Given the description of an element on the screen output the (x, y) to click on. 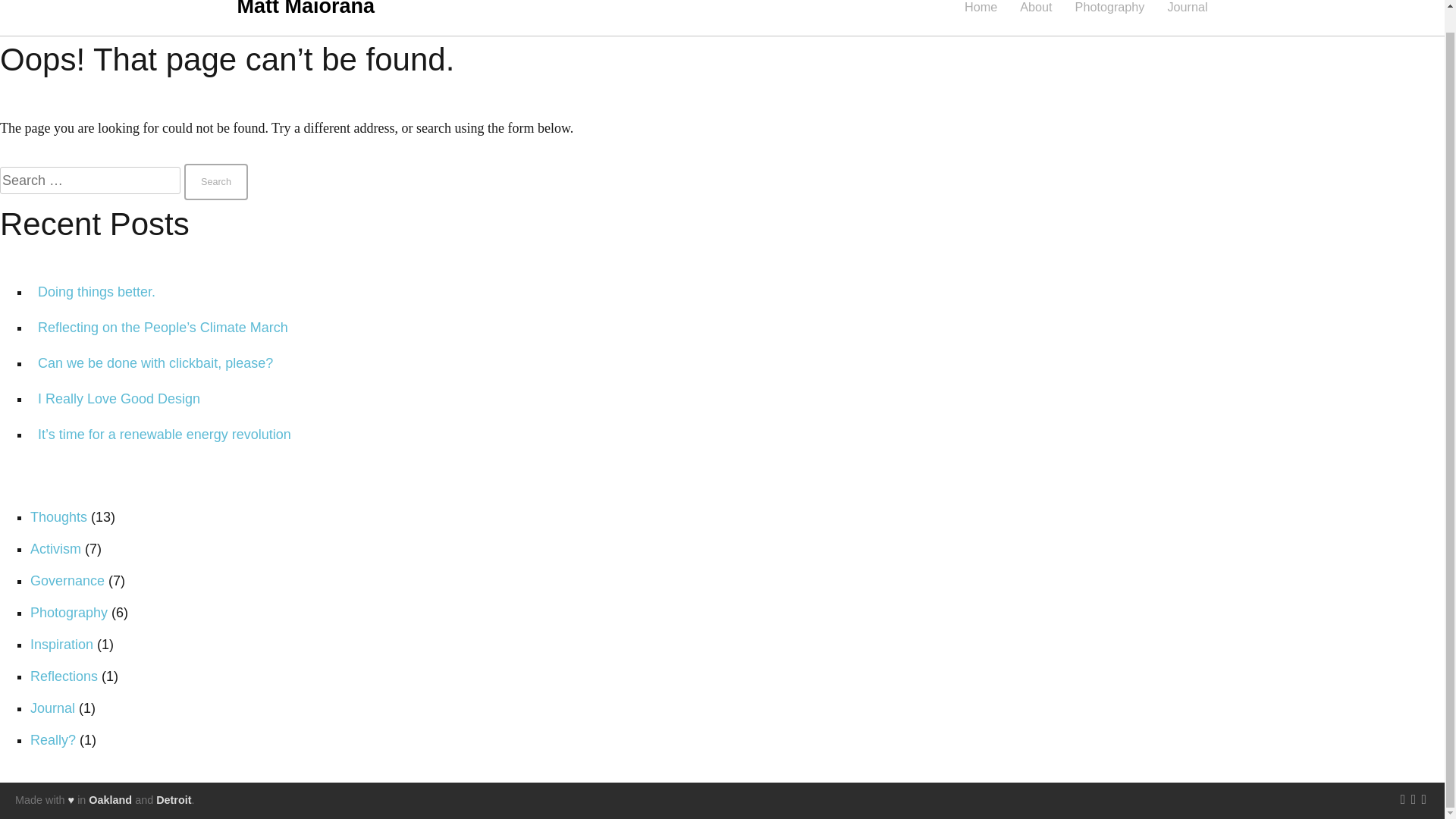
Search (215, 181)
Really? (52, 739)
Thoughts (58, 516)
Can we be done with clickbait, please? (155, 363)
Governance (67, 580)
Doing things better. (96, 291)
Inspiration (61, 644)
Home (980, 6)
Journal (52, 708)
Activism (55, 548)
Matt Maiorana (304, 8)
Search (215, 181)
Search (215, 181)
Reflections (63, 676)
I Really Love Good Design (118, 398)
